Given the description of an element on the screen output the (x, y) to click on. 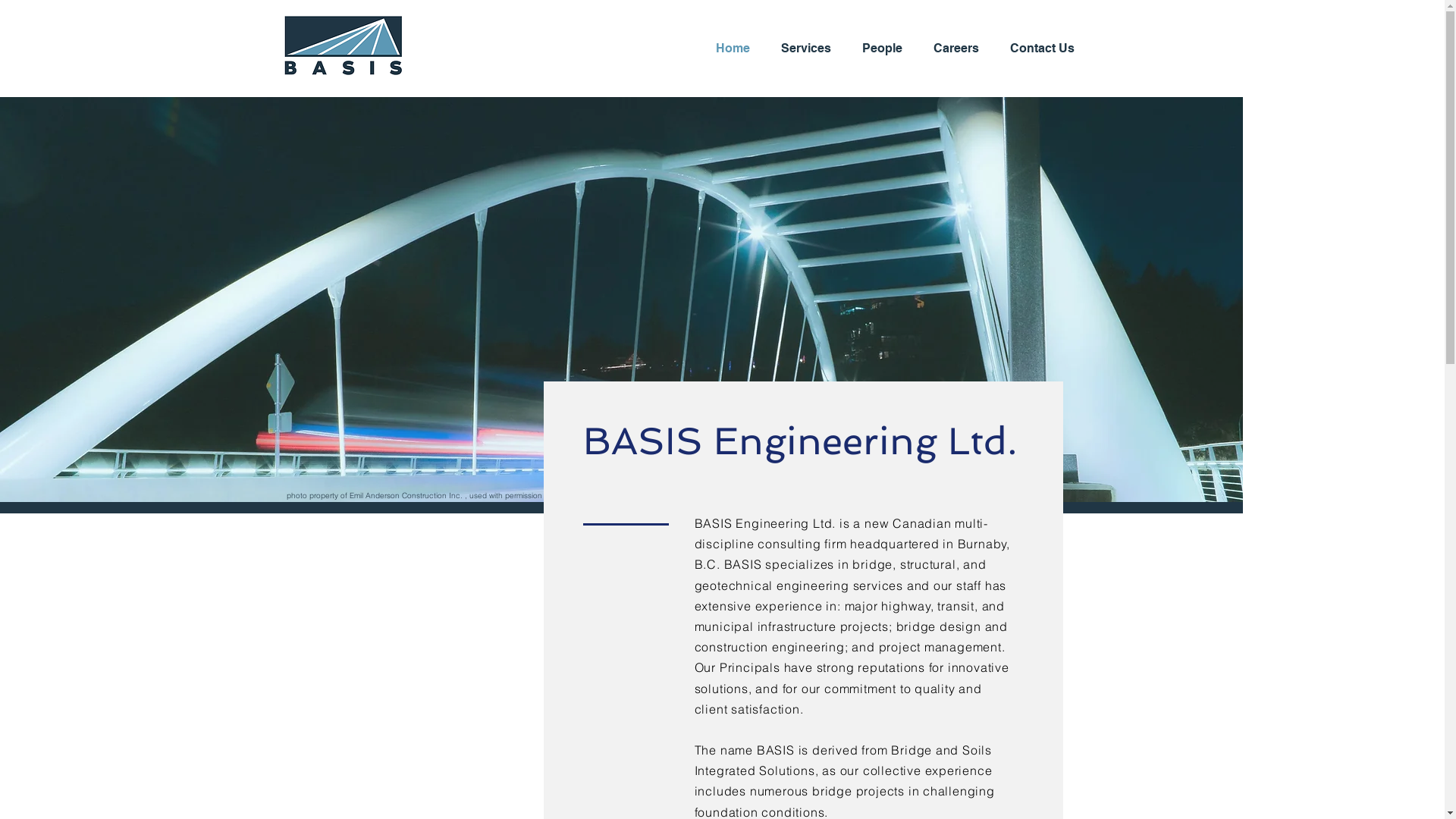
Careers Element type: text (960, 48)
Services Element type: text (809, 48)
Contact Us Element type: text (1045, 48)
Home Element type: text (735, 48)
People Element type: text (886, 48)
